Given the description of an element on the screen output the (x, y) to click on. 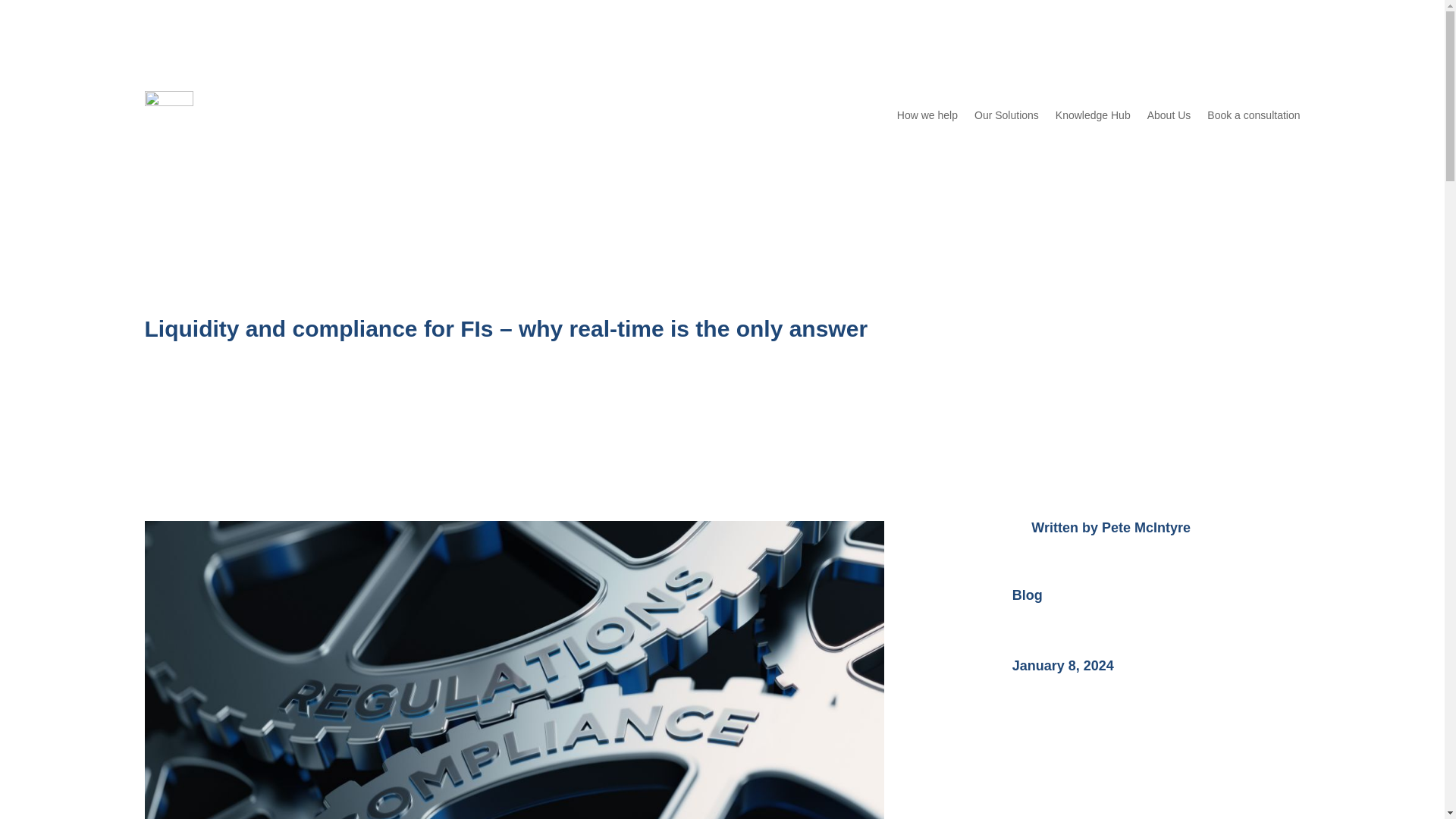
How we help (927, 115)
Our Solutions (1006, 115)
Book a consultation (1253, 115)
Blog (1026, 595)
Knowledge Hub (1093, 115)
